Given the description of an element on the screen output the (x, y) to click on. 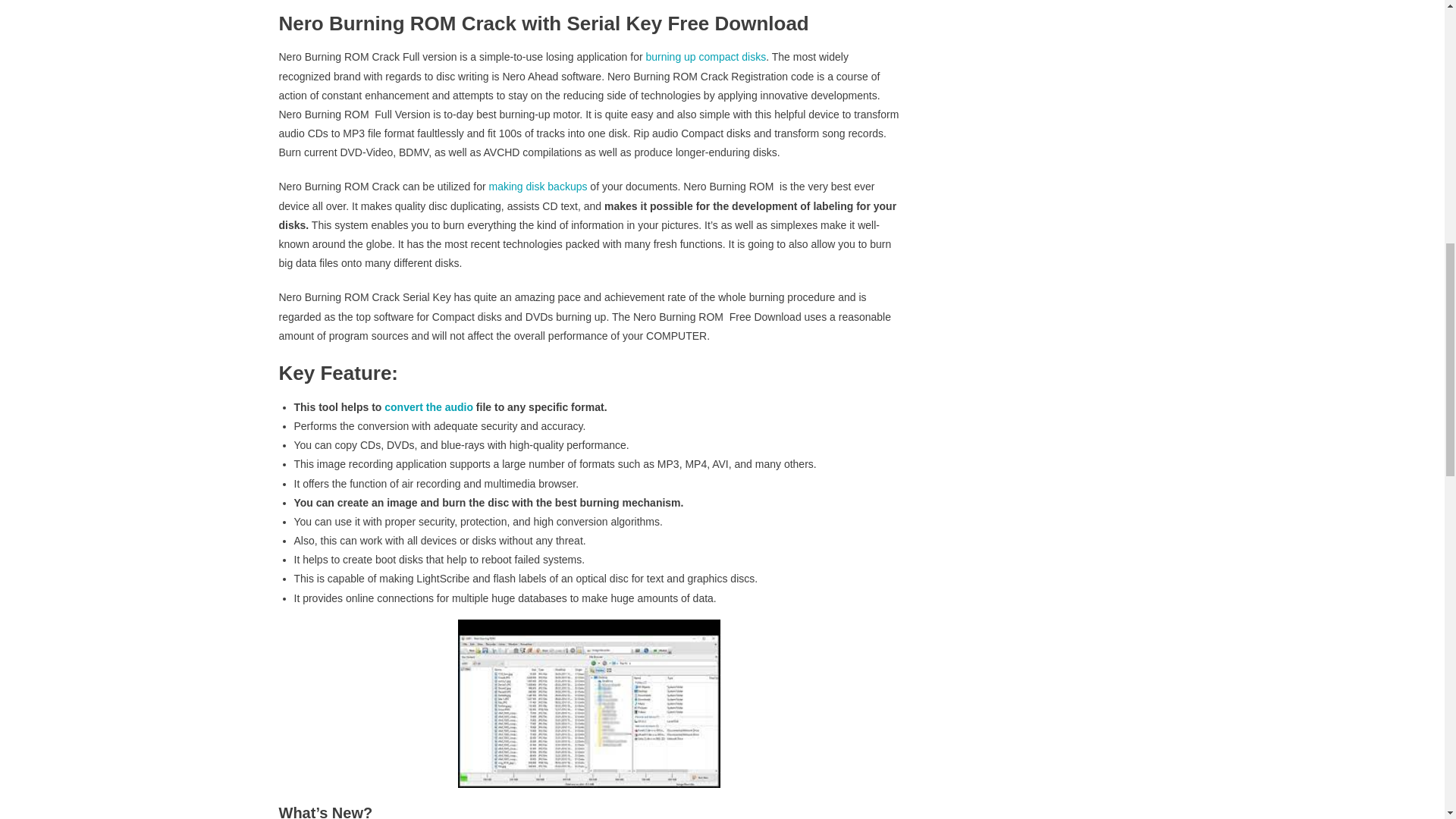
burning up compact disks (705, 56)
convert the audio (428, 407)
making disk backups (536, 186)
